Given the description of an element on the screen output the (x, y) to click on. 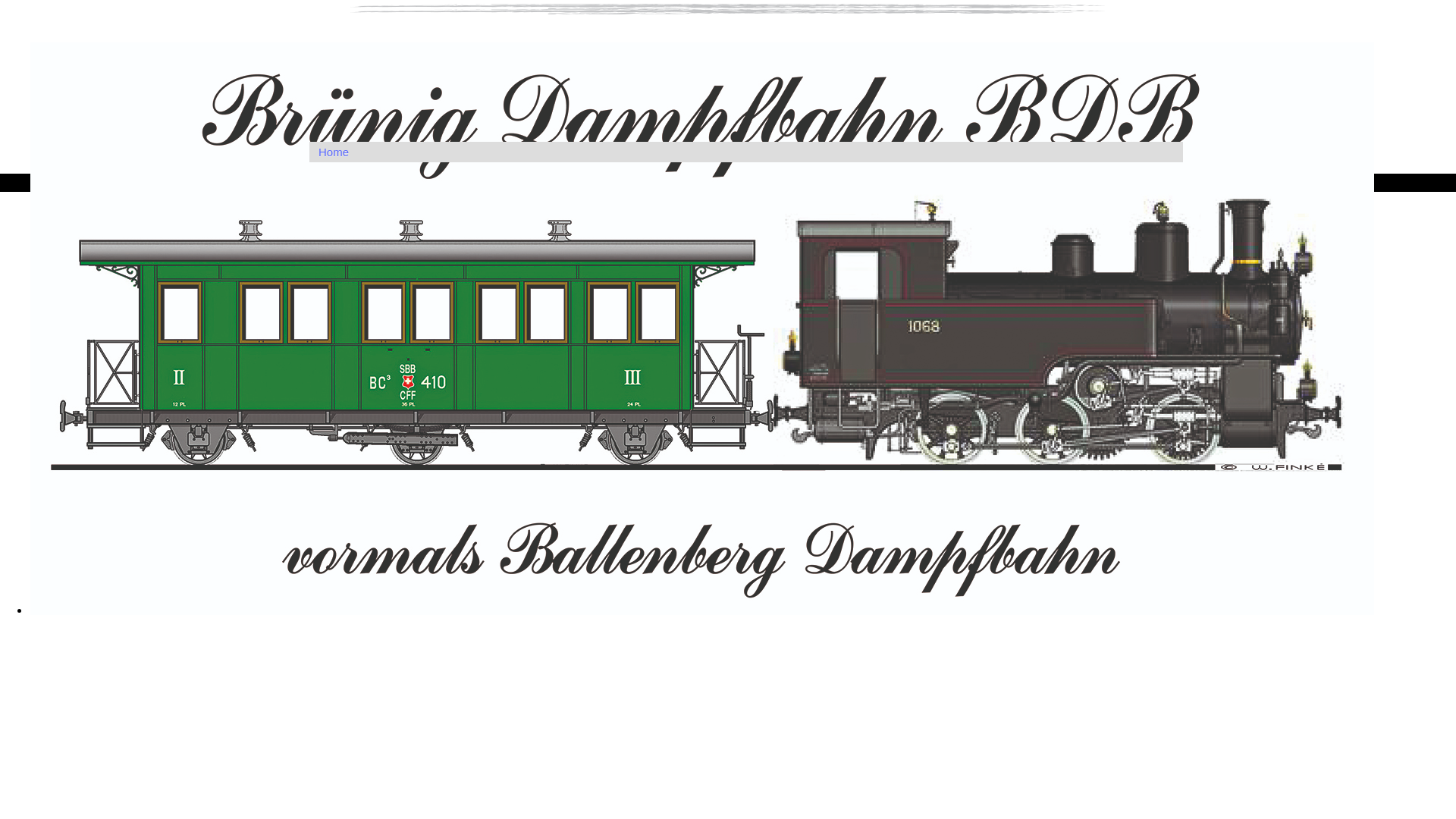
Home Element type: text (746, 151)
Sitemap Element type: text (294, 182)
